Given the description of an element on the screen output the (x, y) to click on. 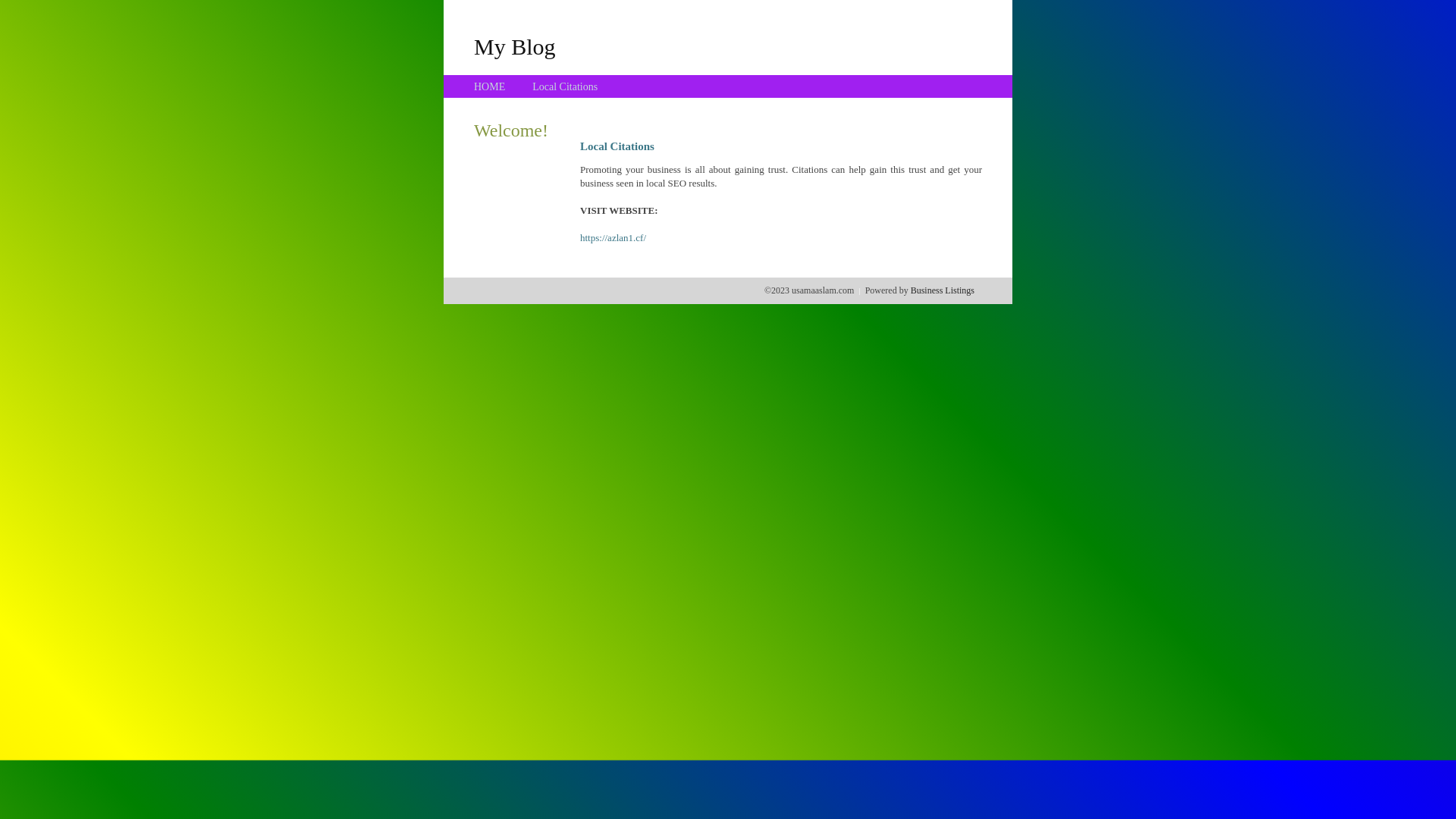
Local Citations Element type: text (564, 86)
My Blog Element type: text (514, 46)
HOME Element type: text (489, 86)
https://azlan1.cf/ Element type: text (613, 237)
Business Listings Element type: text (942, 290)
